Given the description of an element on the screen output the (x, y) to click on. 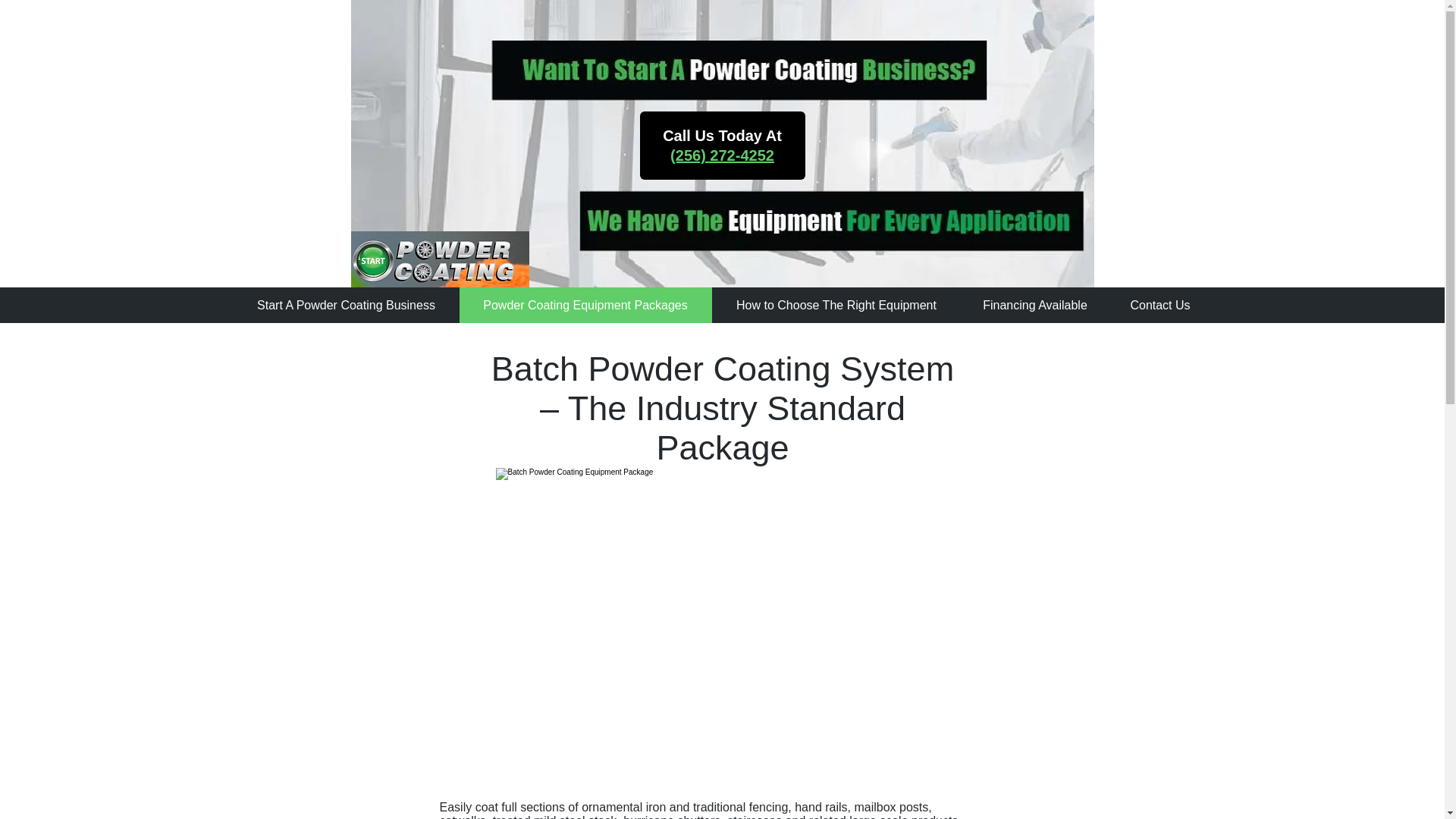
How to Choose The Right Equipment (835, 304)
Contact Us (1159, 304)
Powder Coating Equipment Packages (585, 304)
Financing Available (1034, 304)
Start A Powder Coating Business (346, 304)
